Given the description of an element on the screen output the (x, y) to click on. 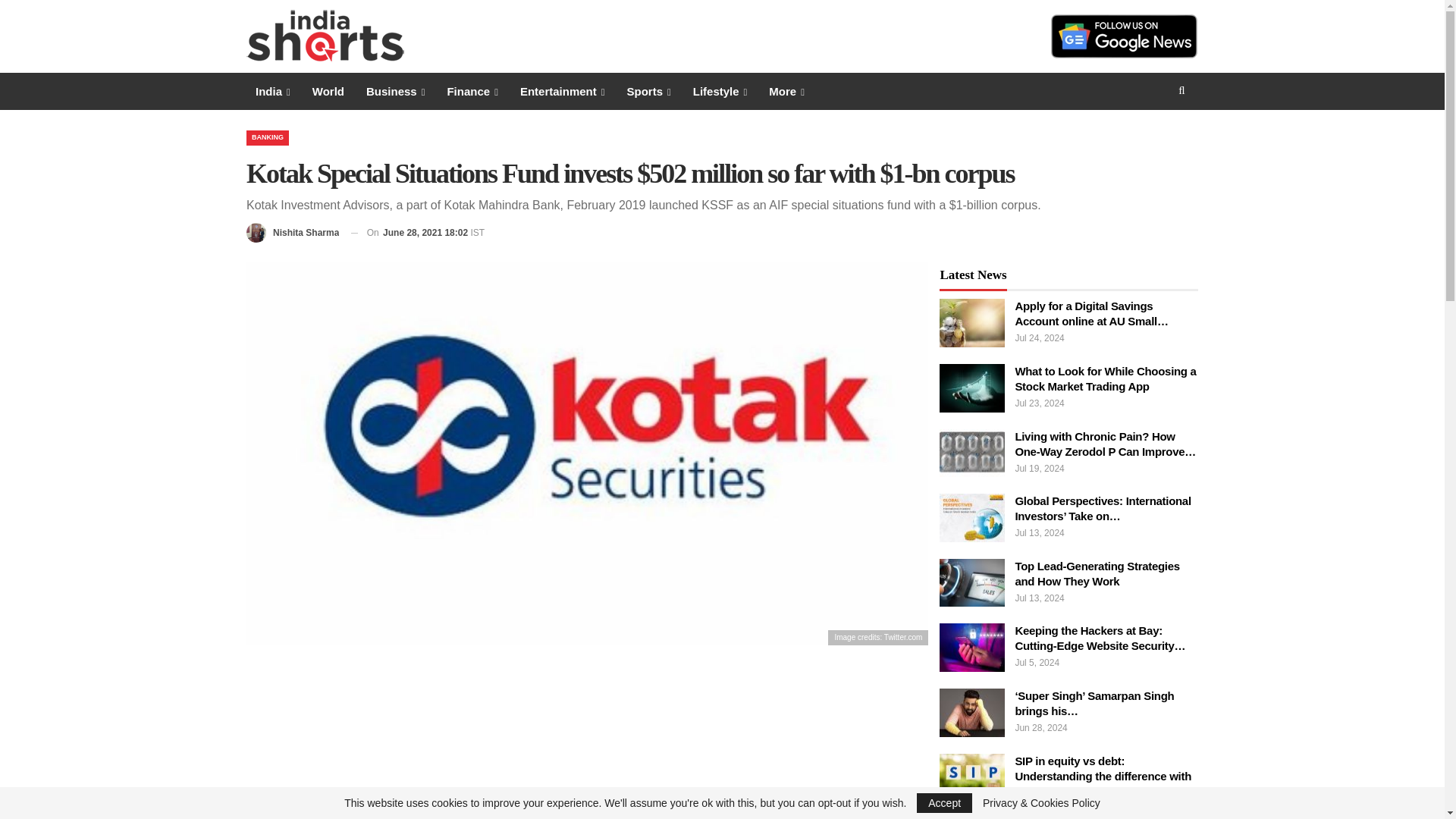
Sports (648, 91)
Lifestyle (720, 91)
India (272, 91)
Advertisement (587, 739)
Business (394, 91)
Finance (472, 91)
Entertainment (562, 91)
Browse Author Articles (292, 232)
World (327, 91)
More (786, 91)
